Given the description of an element on the screen output the (x, y) to click on. 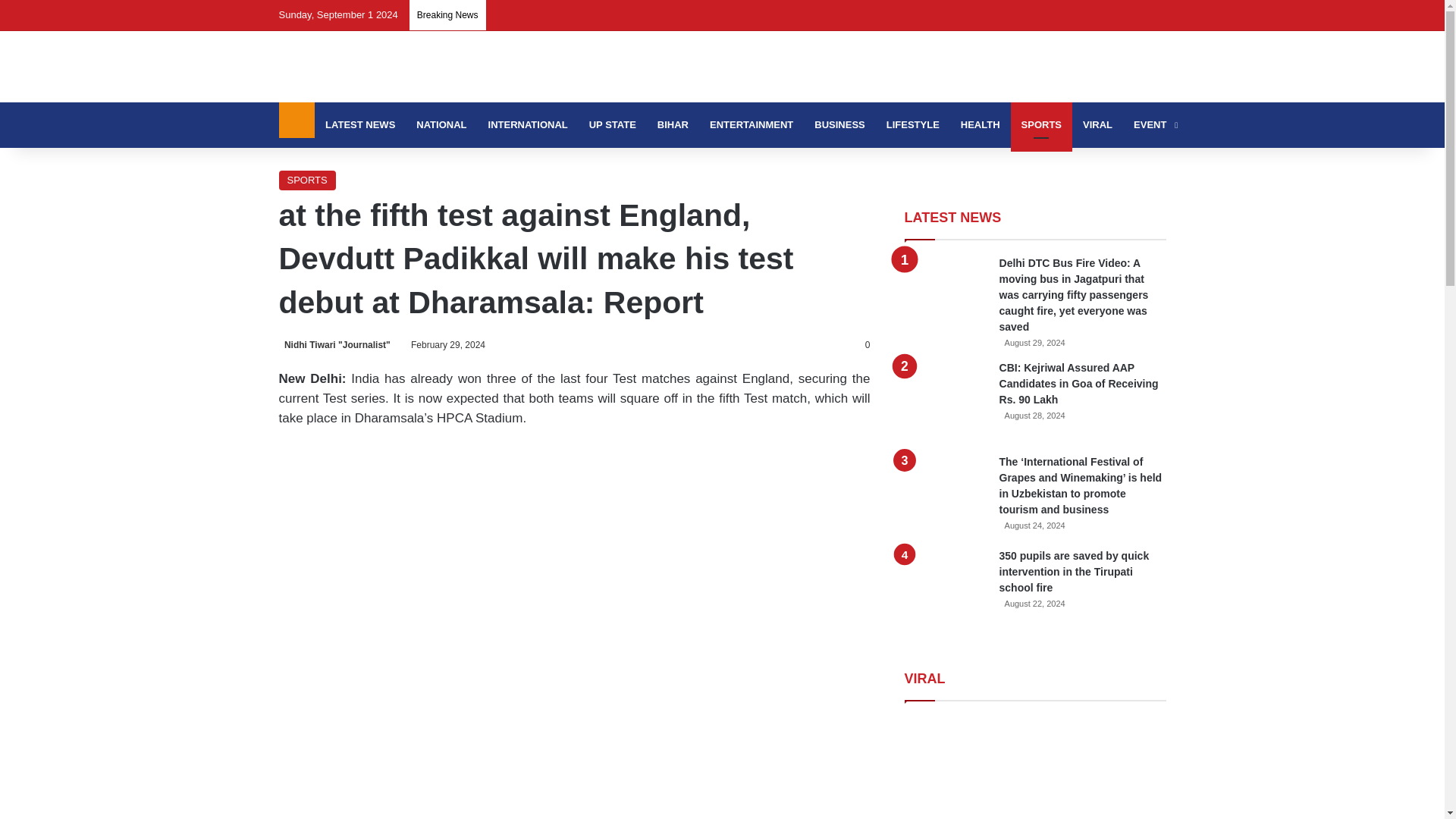
VIRAL (1096, 125)
Nidhi Tiwari  (334, 344)
BUSINESS (839, 125)
Home (297, 120)
TheIndiaPrint (386, 66)
INTERNATIONAL (527, 125)
NATIONAL (441, 125)
Nidhi Tiwari "Journalist" (334, 344)
ENTERTAINMENT (750, 125)
LATEST NEWS (360, 125)
